Given the description of an element on the screen output the (x, y) to click on. 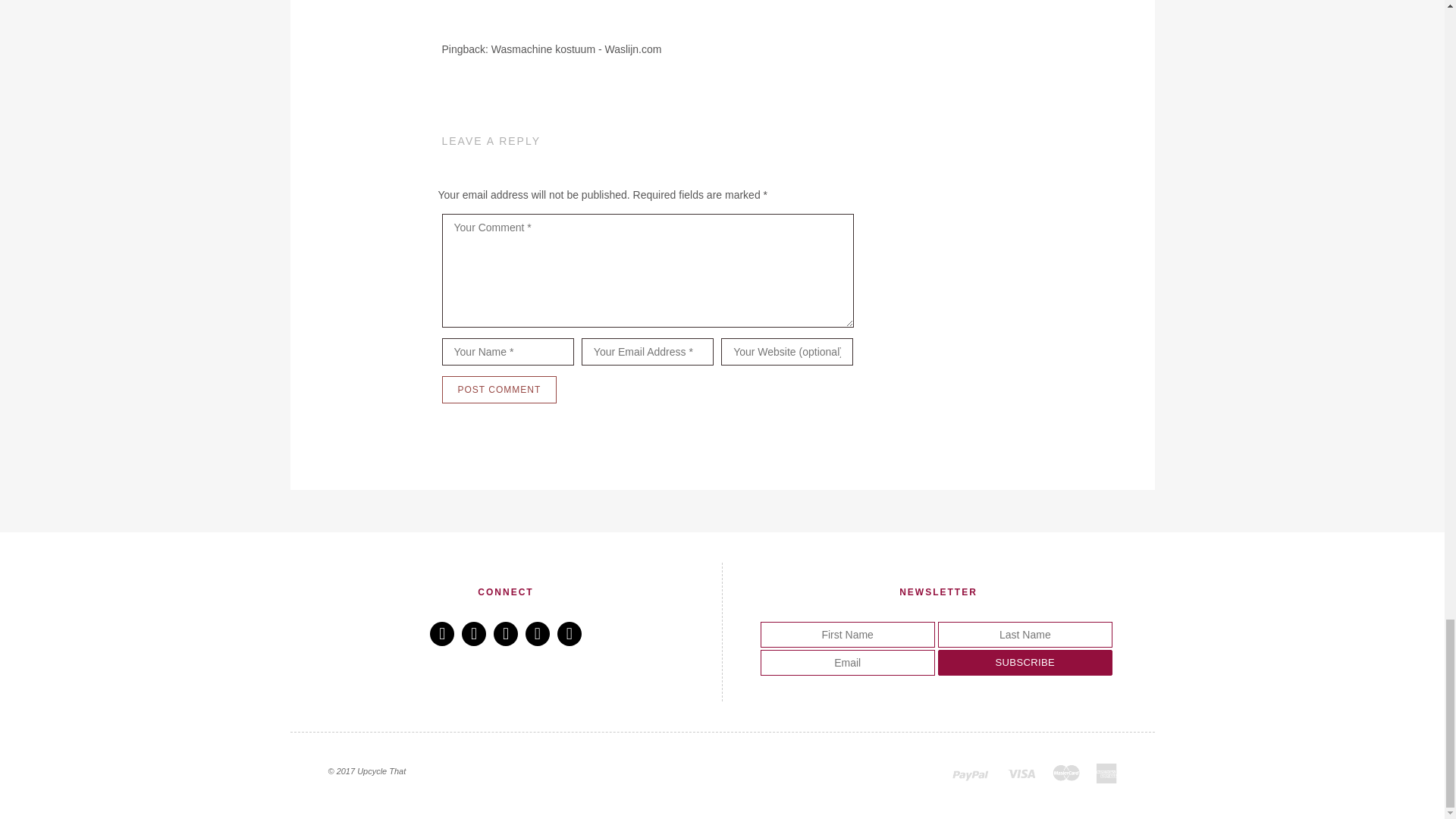
Subscribe (1024, 662)
Post Comment (498, 389)
